Given the description of an element on the screen output the (x, y) to click on. 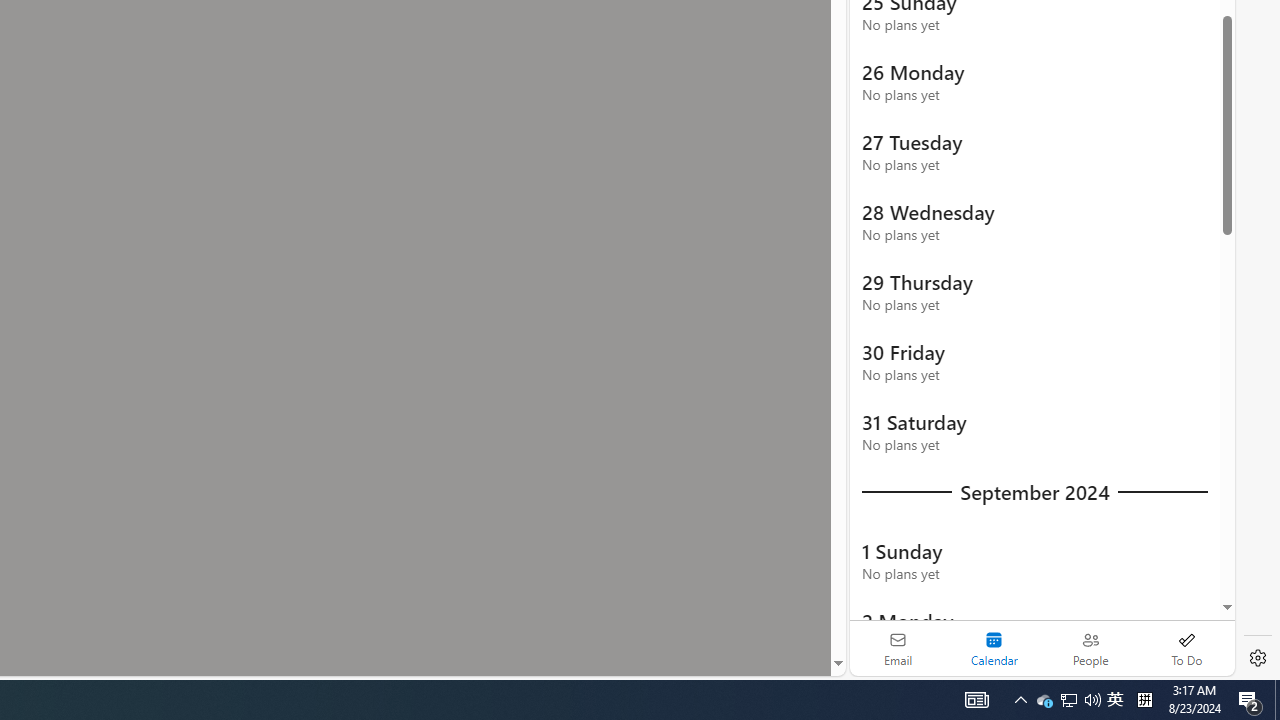
Selected calendar module. Date today is 22 (994, 648)
To Do (1186, 648)
Email (898, 648)
People (1090, 648)
